Given the description of an element on the screen output the (x, y) to click on. 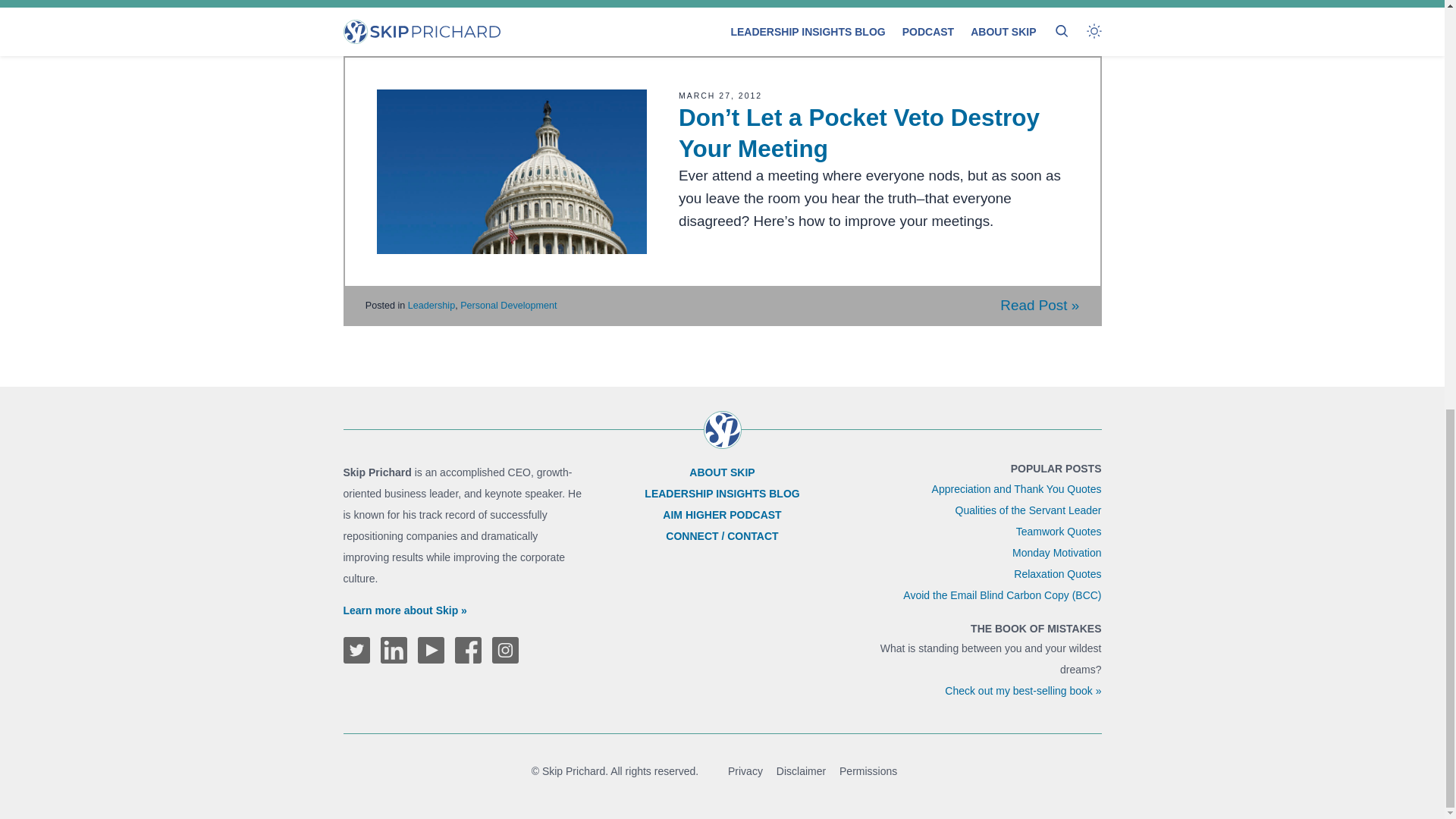
Teamwork Quotes (1059, 531)
Twitter (355, 650)
Appreciation and Thank You Quotes (1016, 489)
Personal Development (508, 305)
LEADERSHIP INSIGHTS BLOG (722, 493)
AIM HIGHER PODCAST (721, 514)
Personal Development (508, 10)
Facebook (467, 650)
Watch Skip's Videos on YouTube (430, 650)
Leadership (430, 10)
Connect with Skip on LinkedIn (393, 650)
YouTube (430, 650)
Leadership (430, 305)
Monday Motivation (1056, 552)
Follow Skip on Instagram (505, 650)
